Given the description of an element on the screen output the (x, y) to click on. 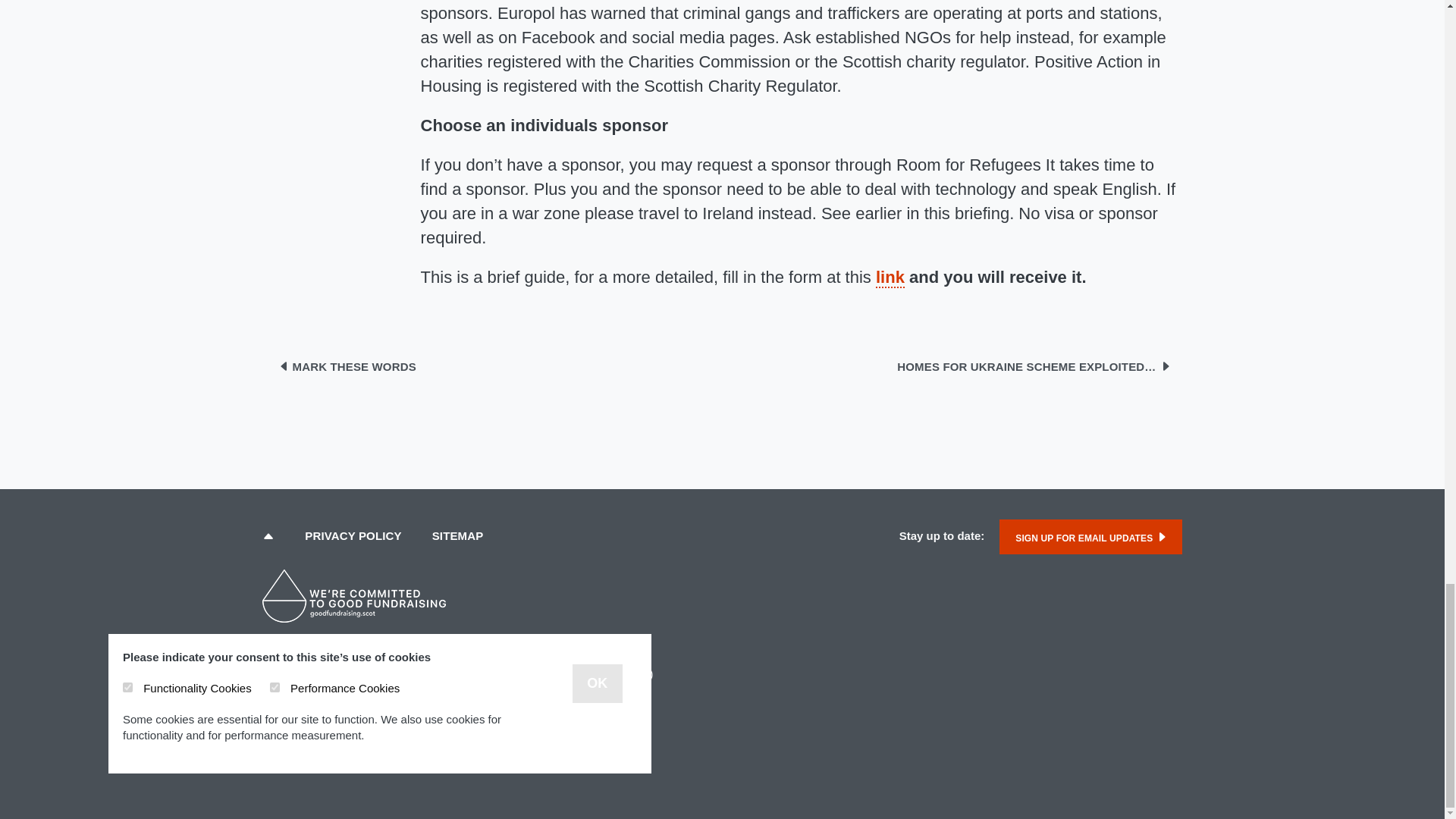
Mark These Words (347, 367)
link (890, 277)
MARK THESE WORDS (347, 367)
